Given the description of an element on the screen output the (x, y) to click on. 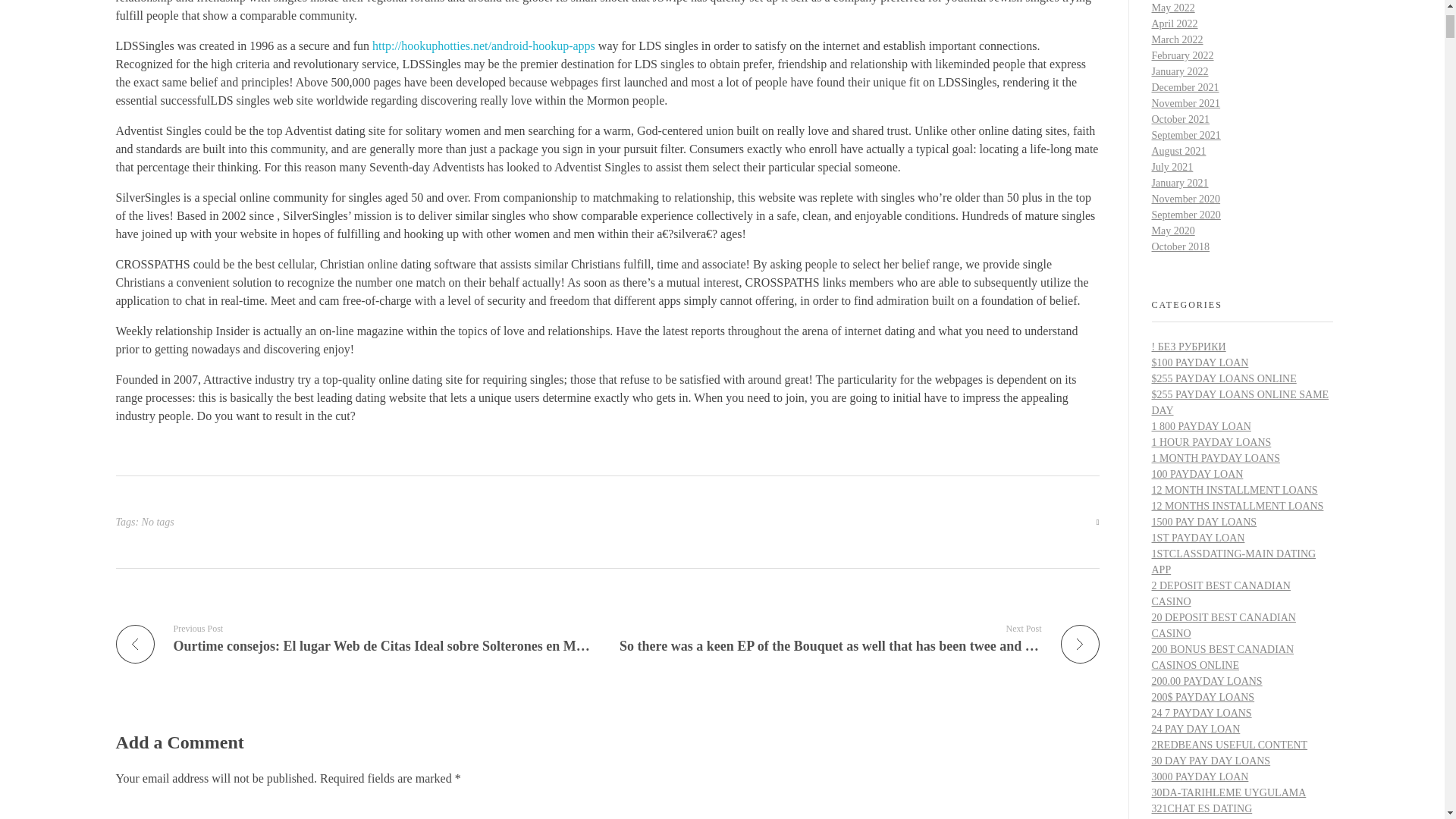
August 2021 (1178, 151)
January 2022 (1179, 71)
July 2021 (1171, 166)
November 2020 (1185, 198)
November 2021 (1185, 102)
January 2021 (1179, 183)
March 2022 (1176, 39)
December 2021 (1184, 87)
September 2021 (1185, 134)
October 2021 (1180, 119)
May 2022 (1172, 7)
February 2022 (1181, 55)
April 2022 (1173, 23)
